Given the description of an element on the screen output the (x, y) to click on. 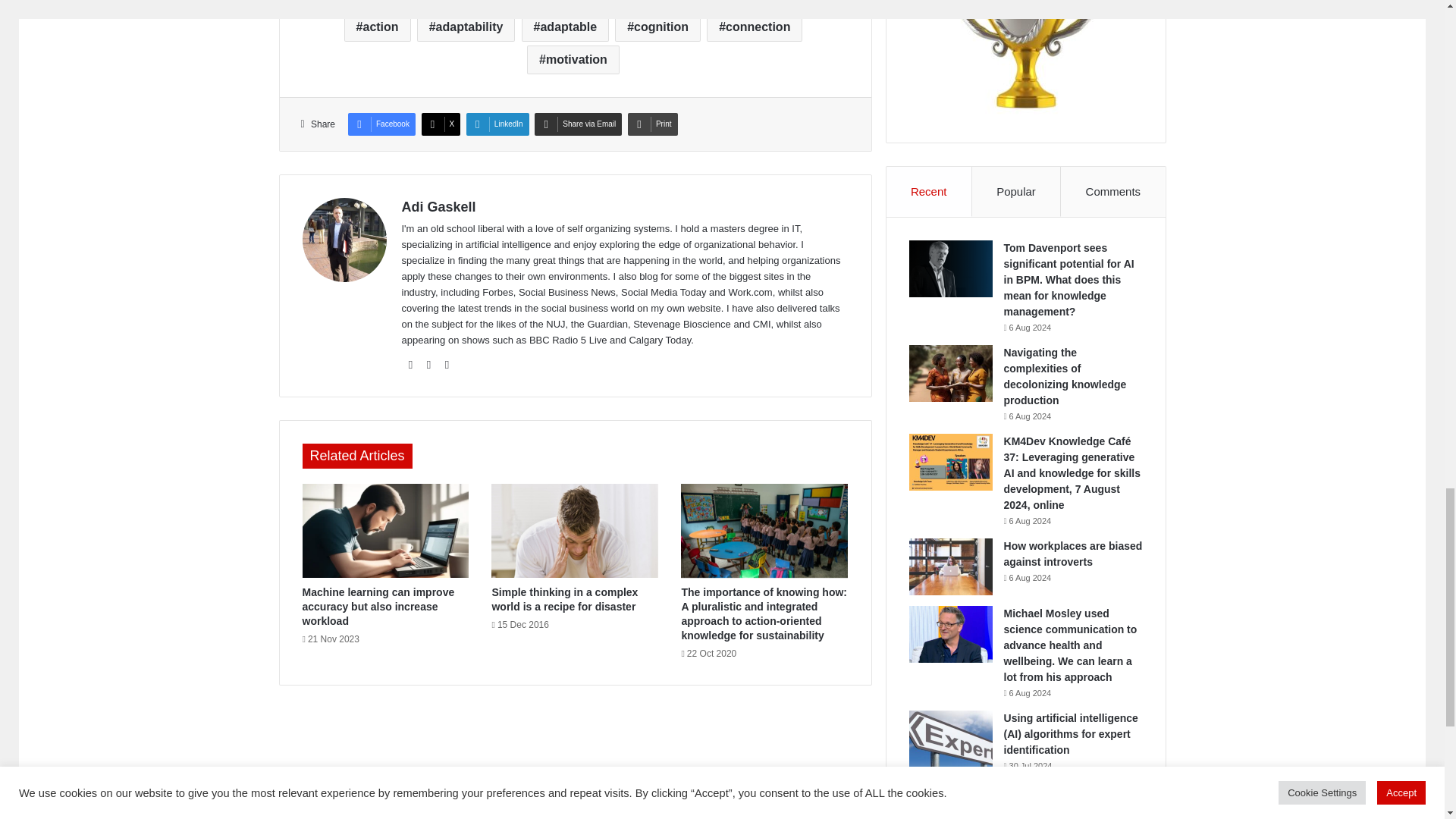
Share via Email (577, 124)
LinkedIn (497, 124)
Print (652, 124)
X (441, 124)
Facebook (380, 124)
